Given the description of an element on the screen output the (x, y) to click on. 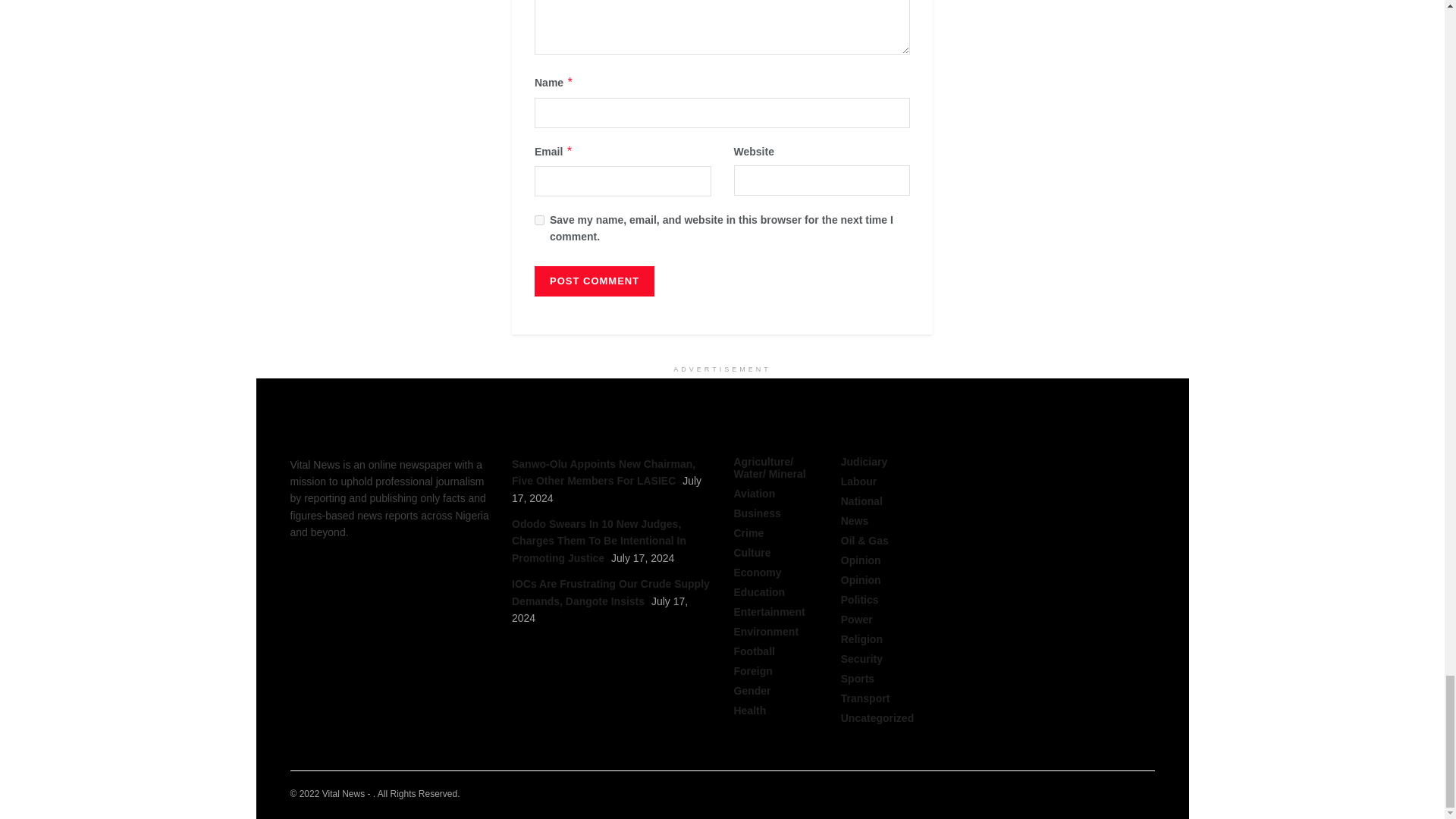
Post Comment (593, 281)
yes (539, 220)
